Given the description of an element on the screen output the (x, y) to click on. 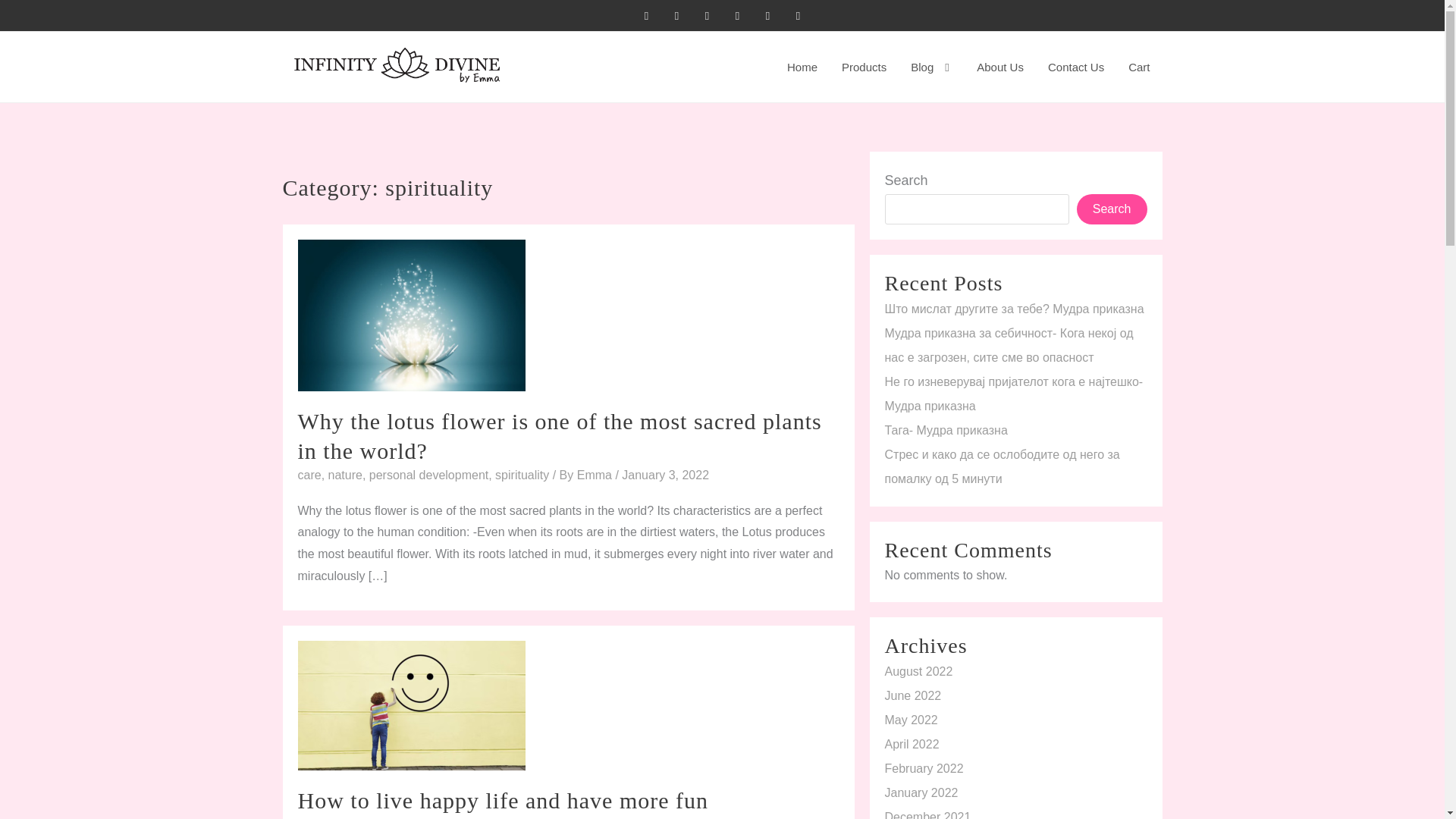
Products (863, 66)
Home (801, 66)
Blog (930, 66)
nature (345, 474)
About Us (999, 66)
personal development (428, 474)
Emma (595, 474)
How to live happy life and have more fun (502, 800)
Cart (1138, 66)
care (308, 474)
View all posts by Emma (595, 474)
Contact Us (1075, 66)
